Given the description of an element on the screen output the (x, y) to click on. 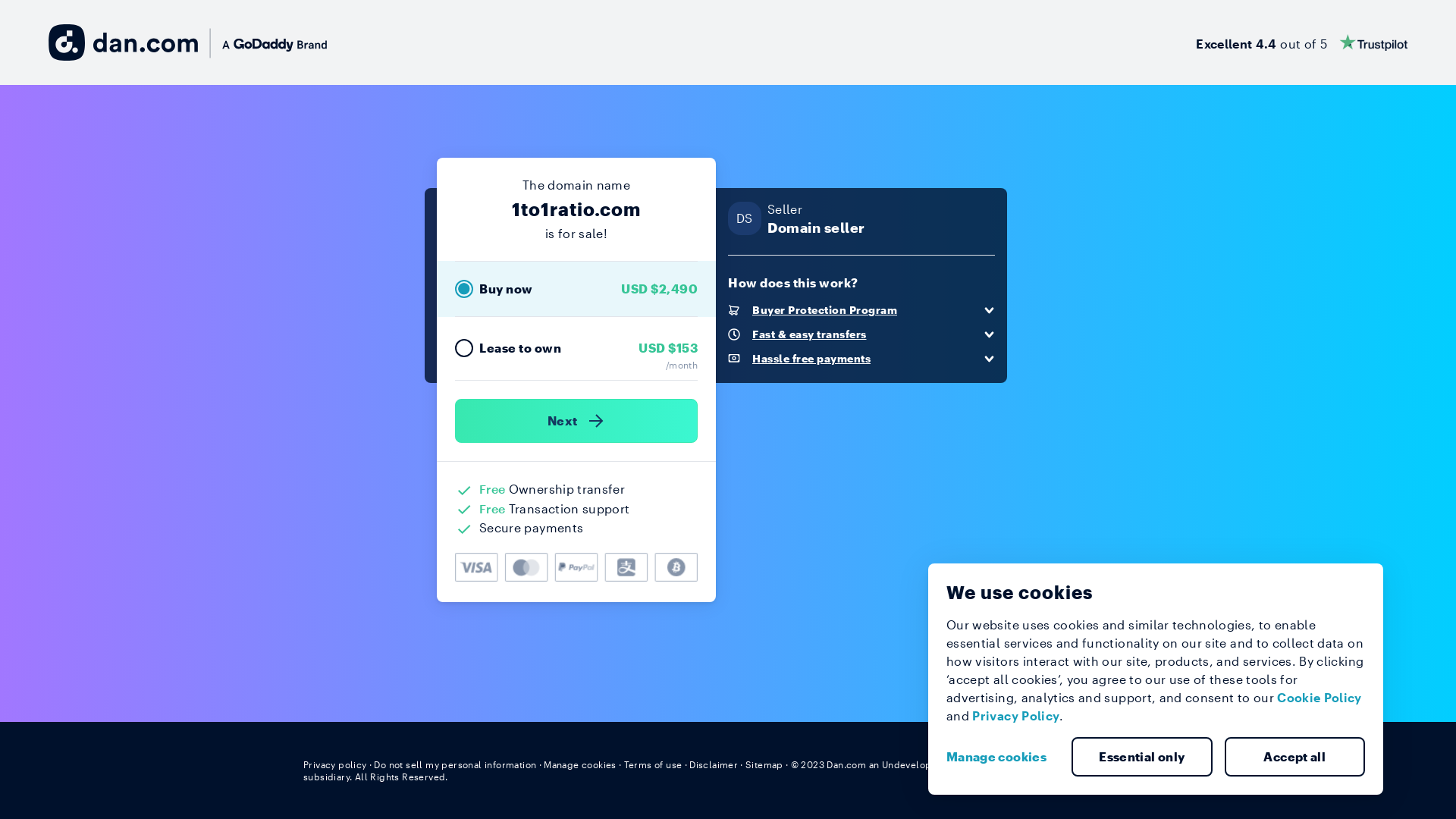
Disclaimer Element type: text (713, 764)
Do not sell my personal information Element type: text (454, 764)
Cookie Policy Element type: text (1319, 697)
English Element type: text (1124, 764)
Manage cookies Element type: text (579, 764)
Excellent 4.4 out of 5 Element type: text (1301, 42)
Sitemap Element type: text (764, 764)
Privacy Policy Element type: text (1015, 715)
Terms of use Element type: text (653, 764)
Next
) Element type: text (576, 420)
Accept all Element type: text (1294, 756)
Privacy policy Element type: text (335, 764)
Manage cookies Element type: text (1002, 756)
Essential only Element type: text (1141, 756)
